Given the description of an element on the screen output the (x, y) to click on. 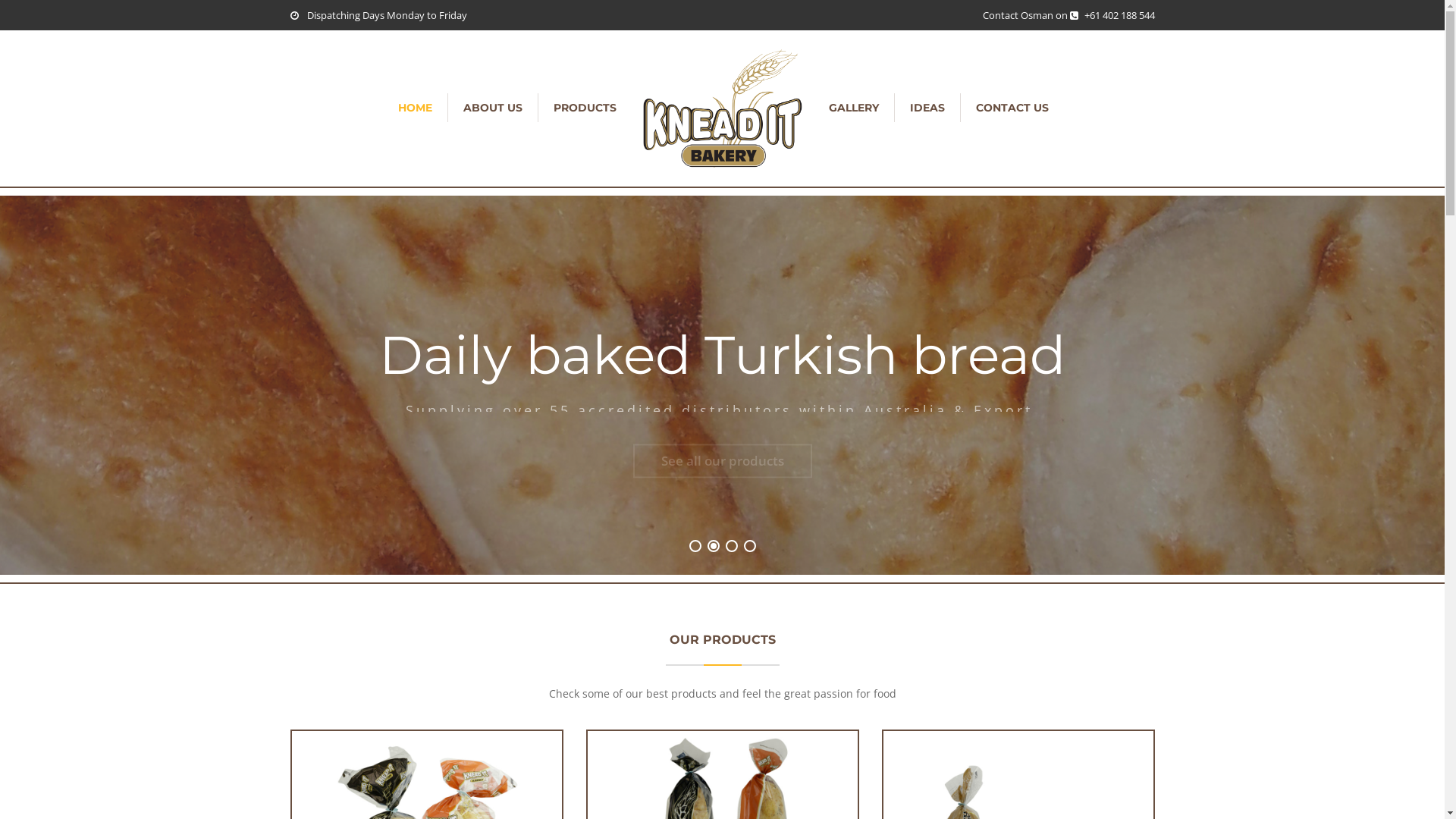
PRODUCTS Element type: text (584, 107)
IDEAS Element type: text (927, 107)
HOME Element type: text (414, 107)
GALLERY Element type: text (852, 107)
CONTACT US Element type: text (1011, 107)
ABOUT US Element type: text (491, 107)
